Given the description of an element on the screen output the (x, y) to click on. 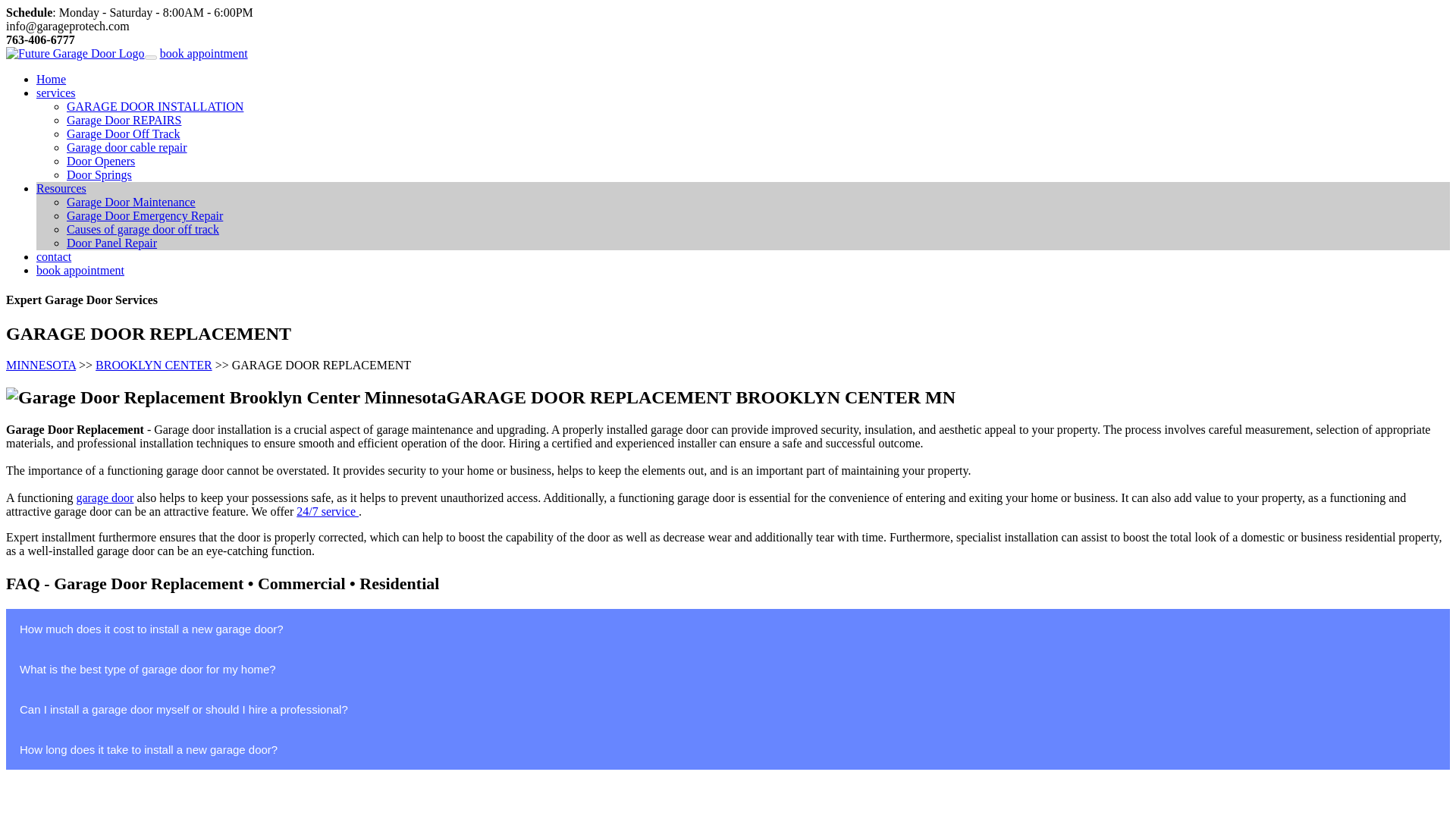
Garage Door Emergency Repair (144, 215)
Home (50, 78)
GARAGE DOOR INSTALLATION (154, 106)
Causes of garage door off track (142, 228)
Resources (60, 187)
Garage Door REPAIRS (123, 119)
Garage door cable repair (126, 146)
contact (53, 256)
BROOKLYN CENTER (154, 364)
MINNESOTA (40, 364)
Door Panel Repair (111, 242)
garage door (104, 497)
book appointment (203, 52)
Door Springs (99, 174)
services (55, 92)
